Given the description of an element on the screen output the (x, y) to click on. 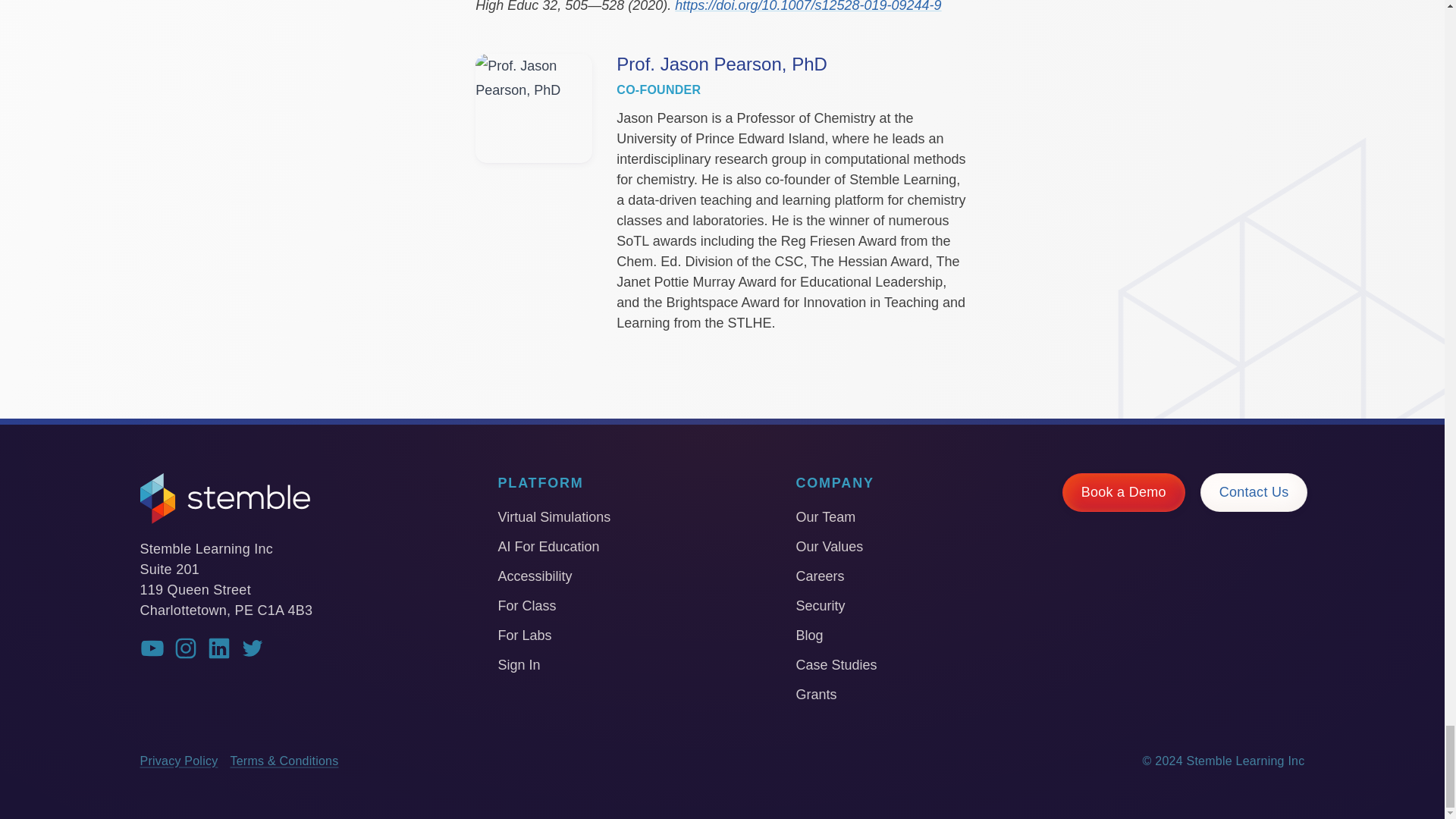
For Class (554, 605)
Stemble Learning LinkedIn (218, 648)
Stemble Learning Youtube (151, 648)
Virtual Simulations (554, 517)
Stemble Learning Instagram (184, 648)
AI For Education (554, 546)
Accessibility (554, 576)
Stemble Learning Twitter (251, 648)
